Given the description of an element on the screen output the (x, y) to click on. 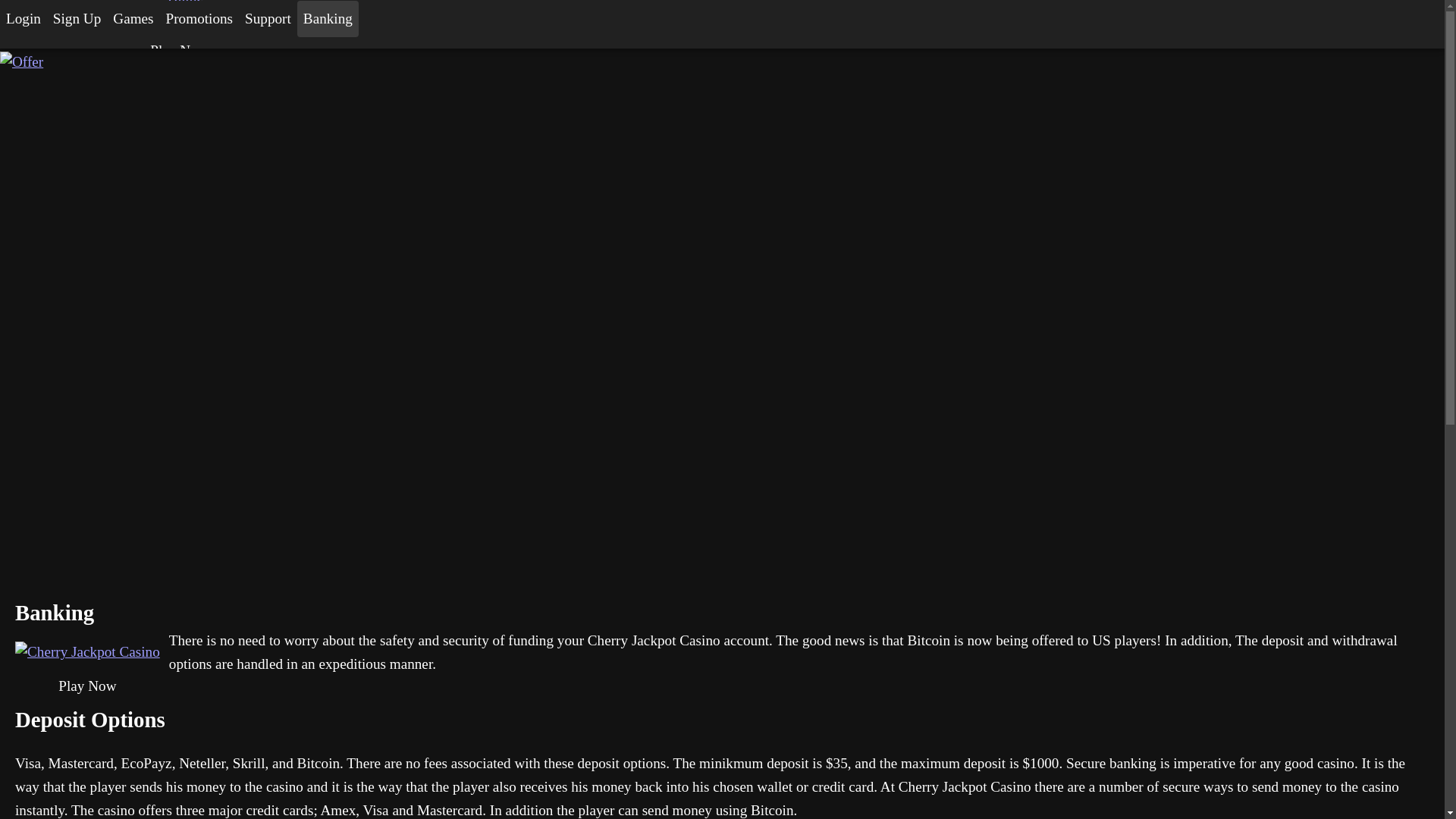
Play Now (87, 686)
Promotions (200, 18)
Login (23, 18)
Banking (327, 18)
Games (132, 18)
Sign Up (76, 18)
Support (267, 18)
Play Now (178, 51)
